Given the description of an element on the screen output the (x, y) to click on. 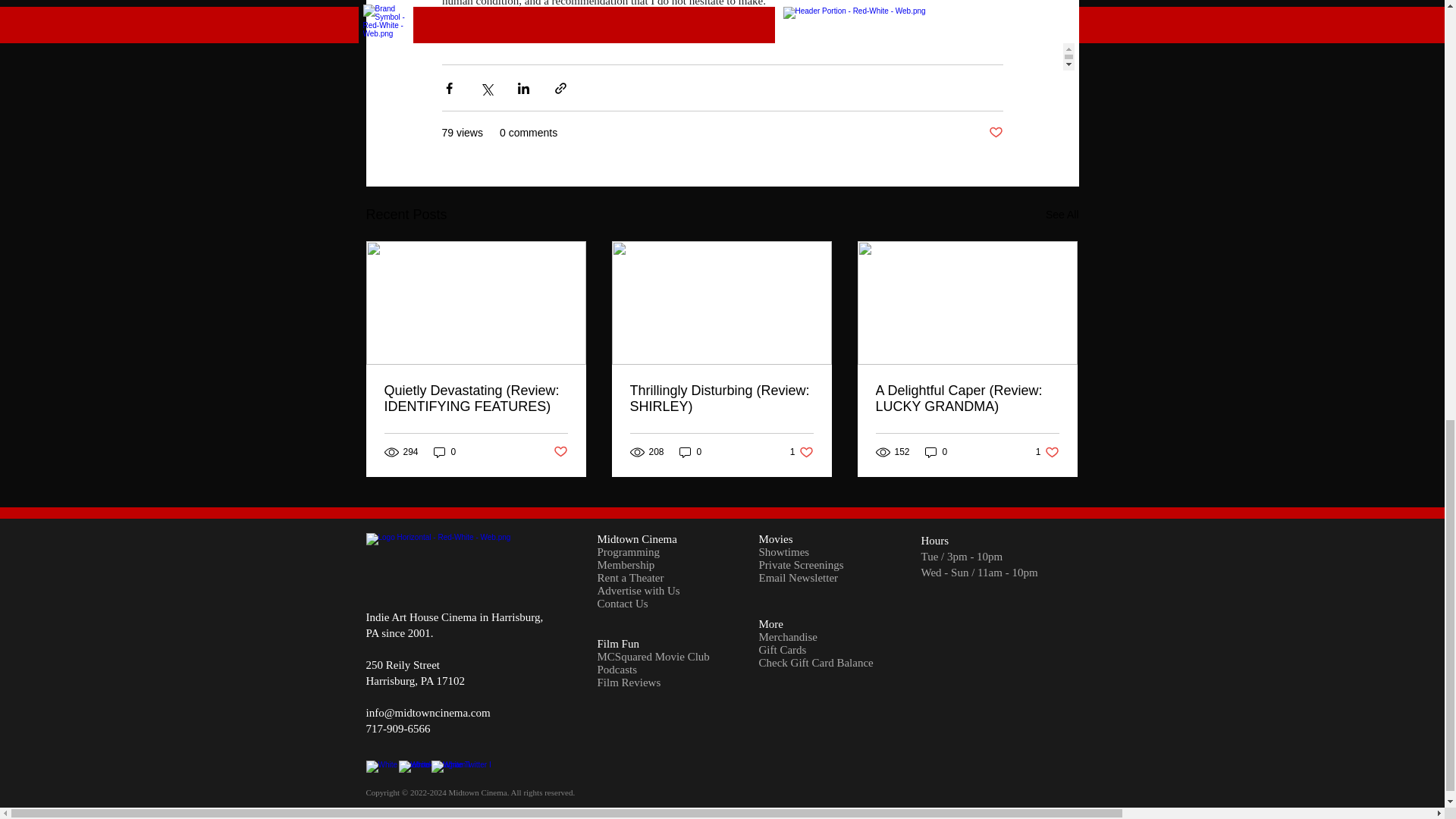
Post not marked as liked (995, 132)
Harrisburg, PA 17102 (414, 680)
0 (936, 452)
0 (801, 452)
250 Reily Street (445, 452)
See All (402, 664)
Post not marked as liked (1061, 214)
0 (560, 452)
